Given the description of an element on the screen output the (x, y) to click on. 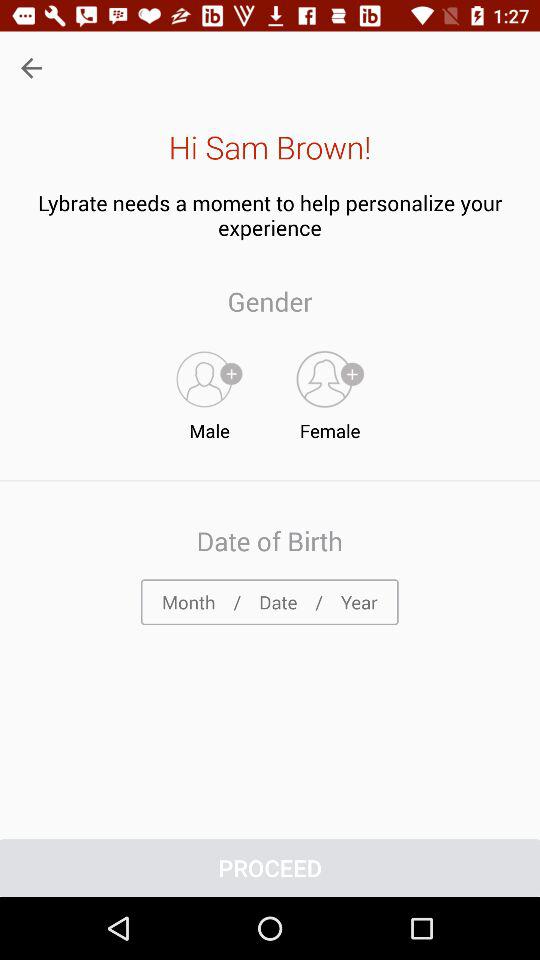
enter date of birth (269, 602)
